Given the description of an element on the screen output the (x, y) to click on. 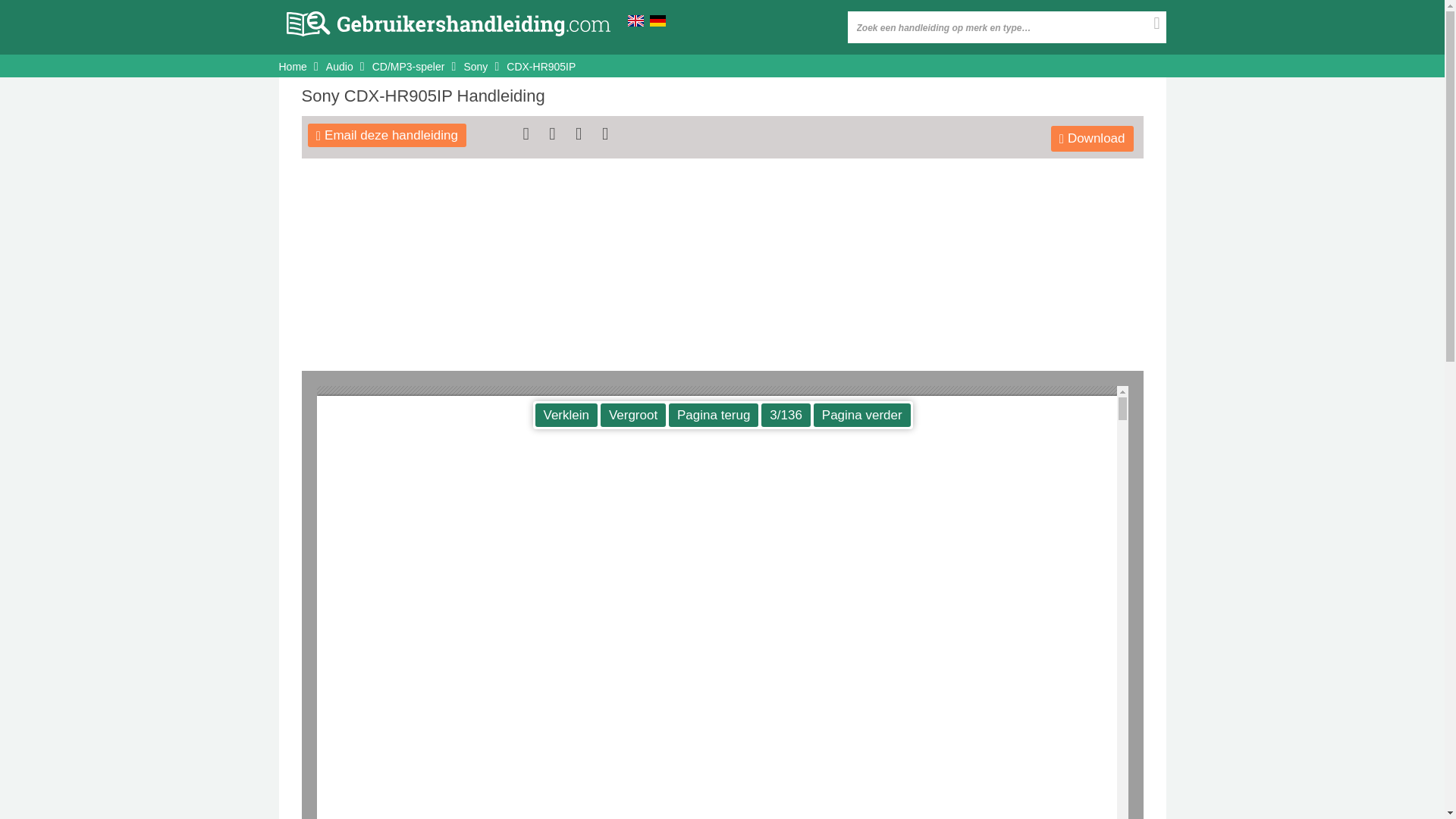
Ga naar de duitse pagina (657, 19)
CDX-HR905IP (540, 66)
Home (293, 66)
Sony (475, 66)
Download (1092, 138)
Audio (339, 66)
Audio (339, 66)
CDX-HR905IP (540, 66)
3rd party ad content (721, 203)
Sony (475, 66)
Ga naar de engelse pagina (635, 19)
Email deze handleiding (387, 135)
